Given the description of an element on the screen output the (x, y) to click on. 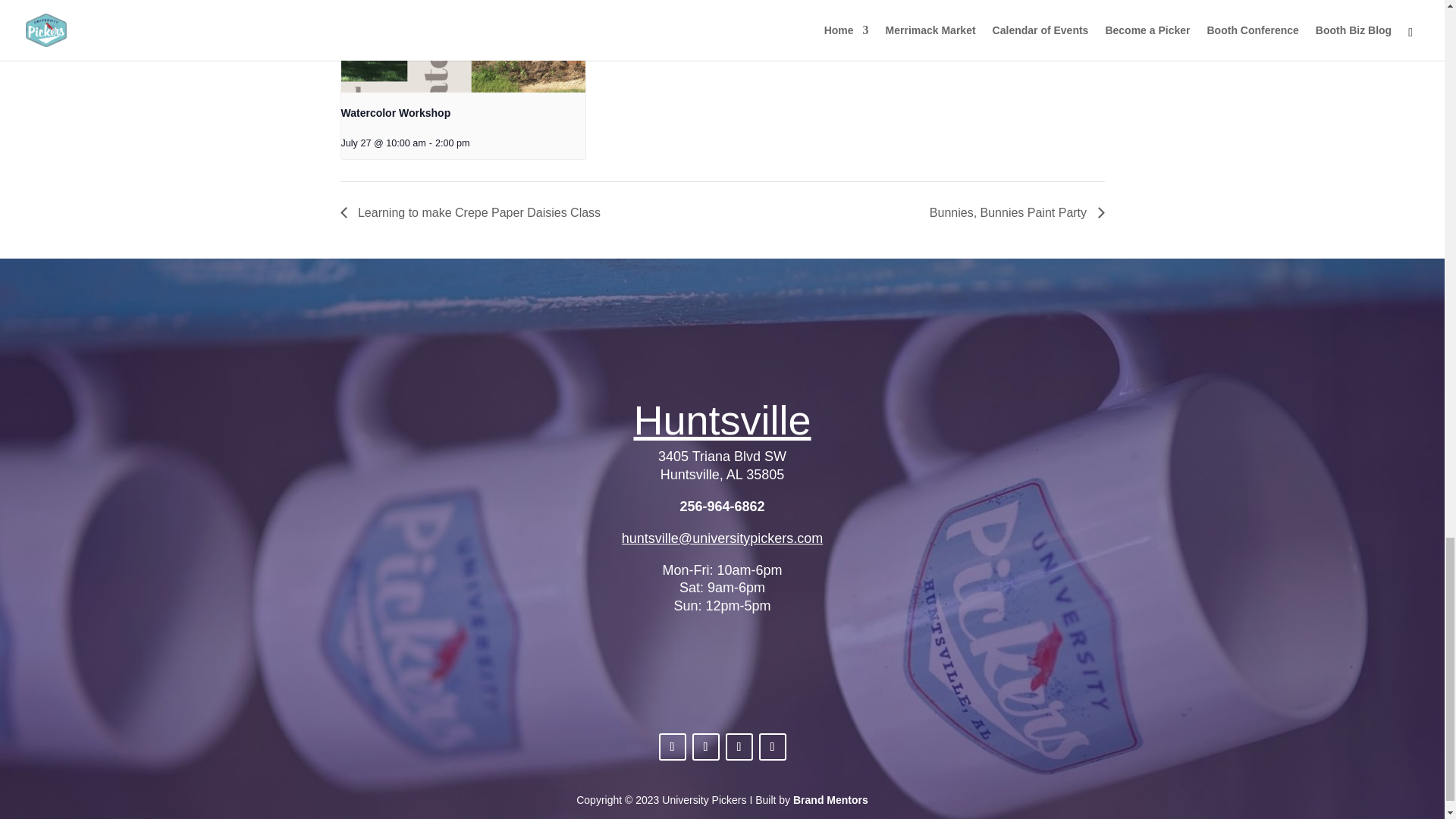
Follow on Instagram (705, 746)
Watercolor Workshop (395, 112)
Follow on Pinterest (738, 746)
Brand Mentors (830, 799)
Follow on Facebook (671, 746)
Follow on X (772, 746)
Bunnies, Bunnies Paint Party (1013, 212)
Learning to make Crepe Paper Daisies Class (473, 212)
